Given the description of an element on the screen output the (x, y) to click on. 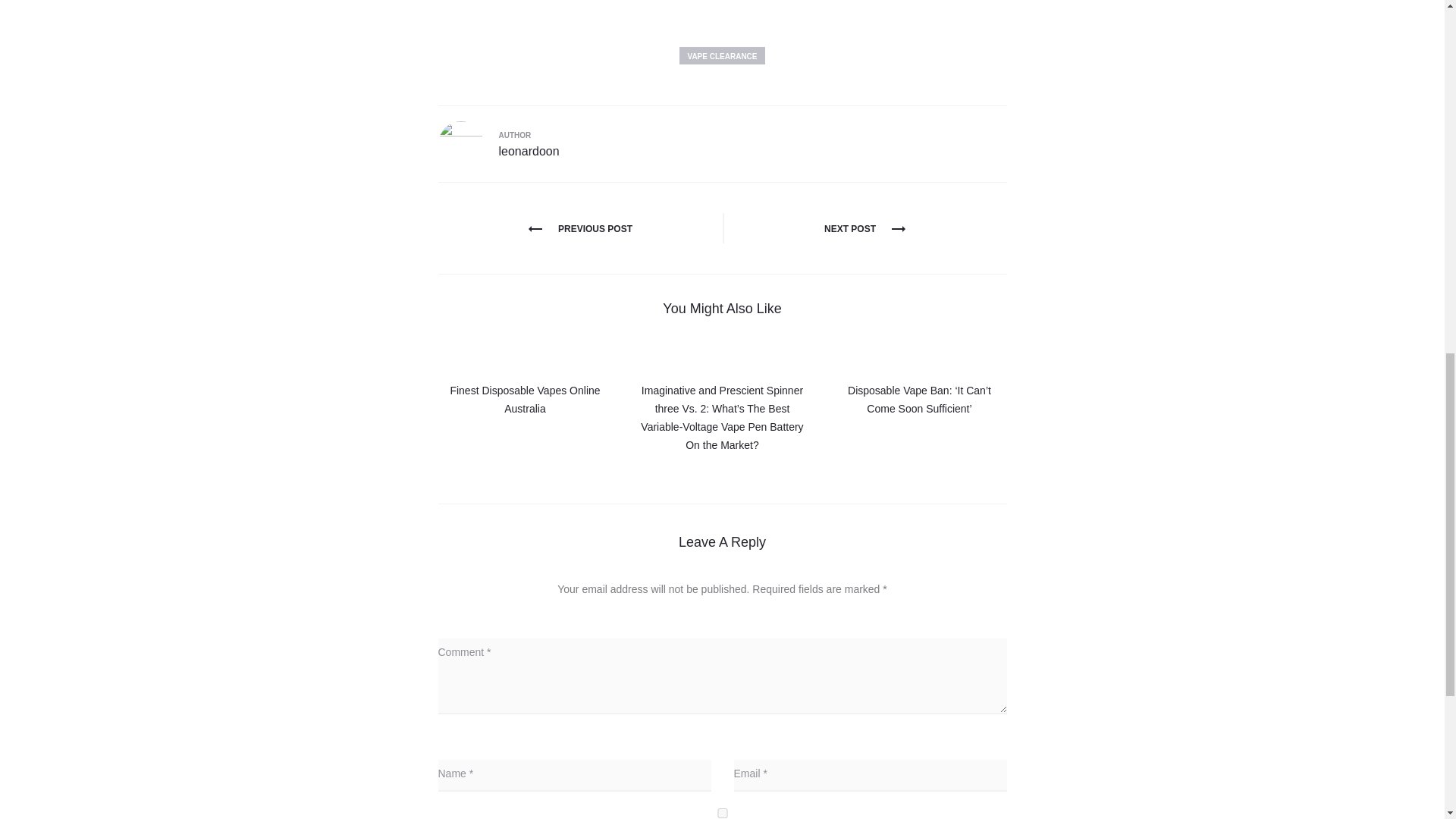
PREVIOUS POST (579, 228)
yes (722, 813)
NEXT POST (864, 228)
leonardoon (529, 151)
Finest Disposable Vapes Online Australia (524, 399)
VAPE CLEARANCE (721, 55)
